Given the description of an element on the screen output the (x, y) to click on. 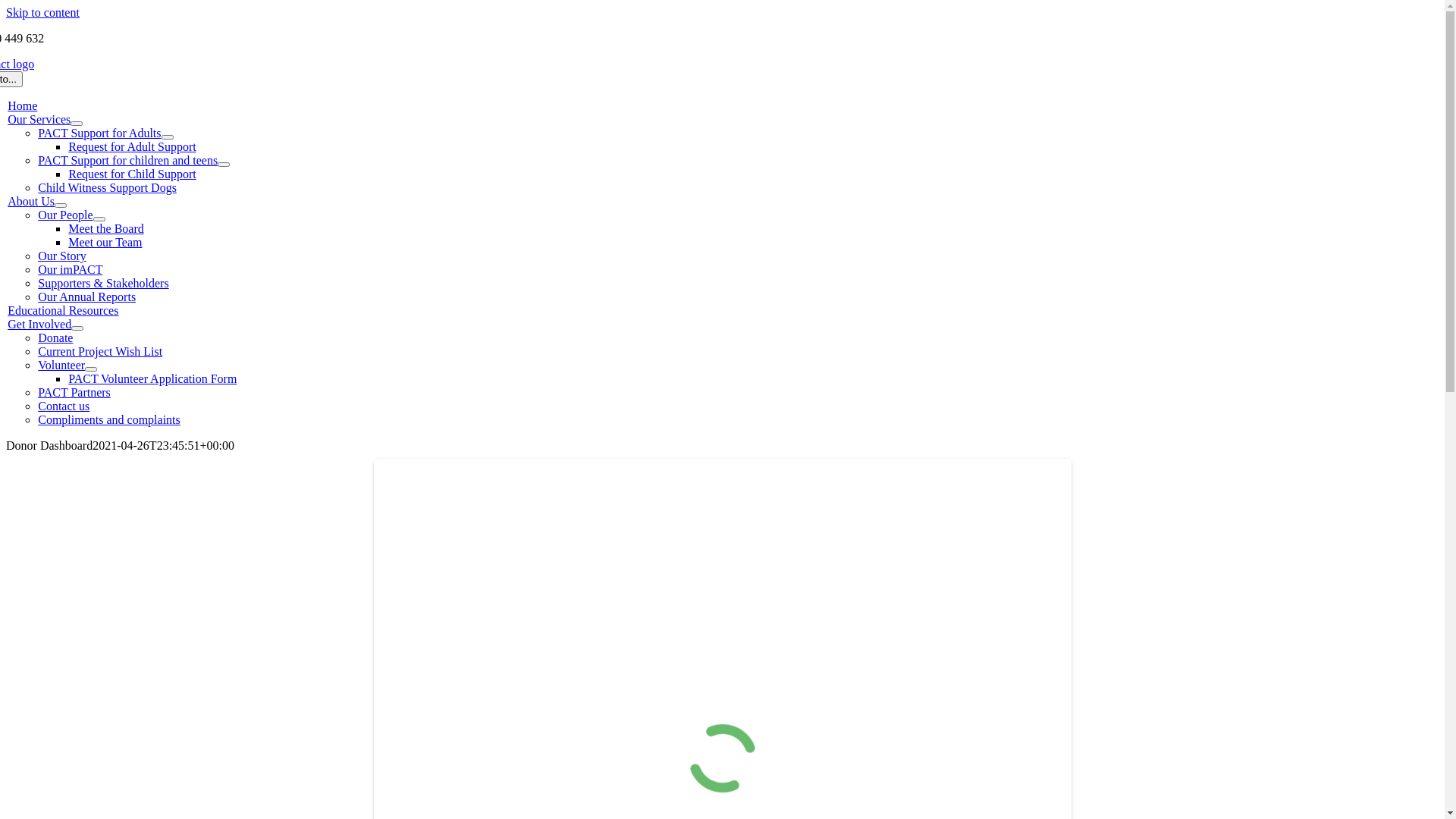
Home Element type: text (22, 105)
PACT Support for children and teens Element type: text (127, 159)
PACT Partners Element type: text (73, 391)
Get Involved Element type: text (39, 323)
Request for Child Support Element type: text (131, 173)
Our Services Element type: text (38, 118)
Compliments and complaints Element type: text (108, 419)
Volunteer Element type: text (60, 364)
Our Story Element type: text (61, 255)
PACT Support for Adults Element type: text (98, 132)
Our Annual Reports Element type: text (86, 296)
Educational Resources Element type: text (62, 310)
PACT Volunteer Application Form Element type: text (152, 378)
Meet our Team Element type: text (104, 241)
Child Witness Support Dogs Element type: text (106, 187)
Contact us Element type: text (63, 405)
Our People Element type: text (64, 214)
Skip to content Element type: text (42, 12)
Our imPACT Element type: text (69, 269)
Donate Element type: text (54, 337)
Meet the Board Element type: text (106, 228)
Request for Adult Support Element type: text (131, 146)
Supporters & Stakeholders Element type: text (102, 282)
Current Project Wish List Element type: text (99, 351)
About Us Element type: text (30, 200)
